Given the description of an element on the screen output the (x, y) to click on. 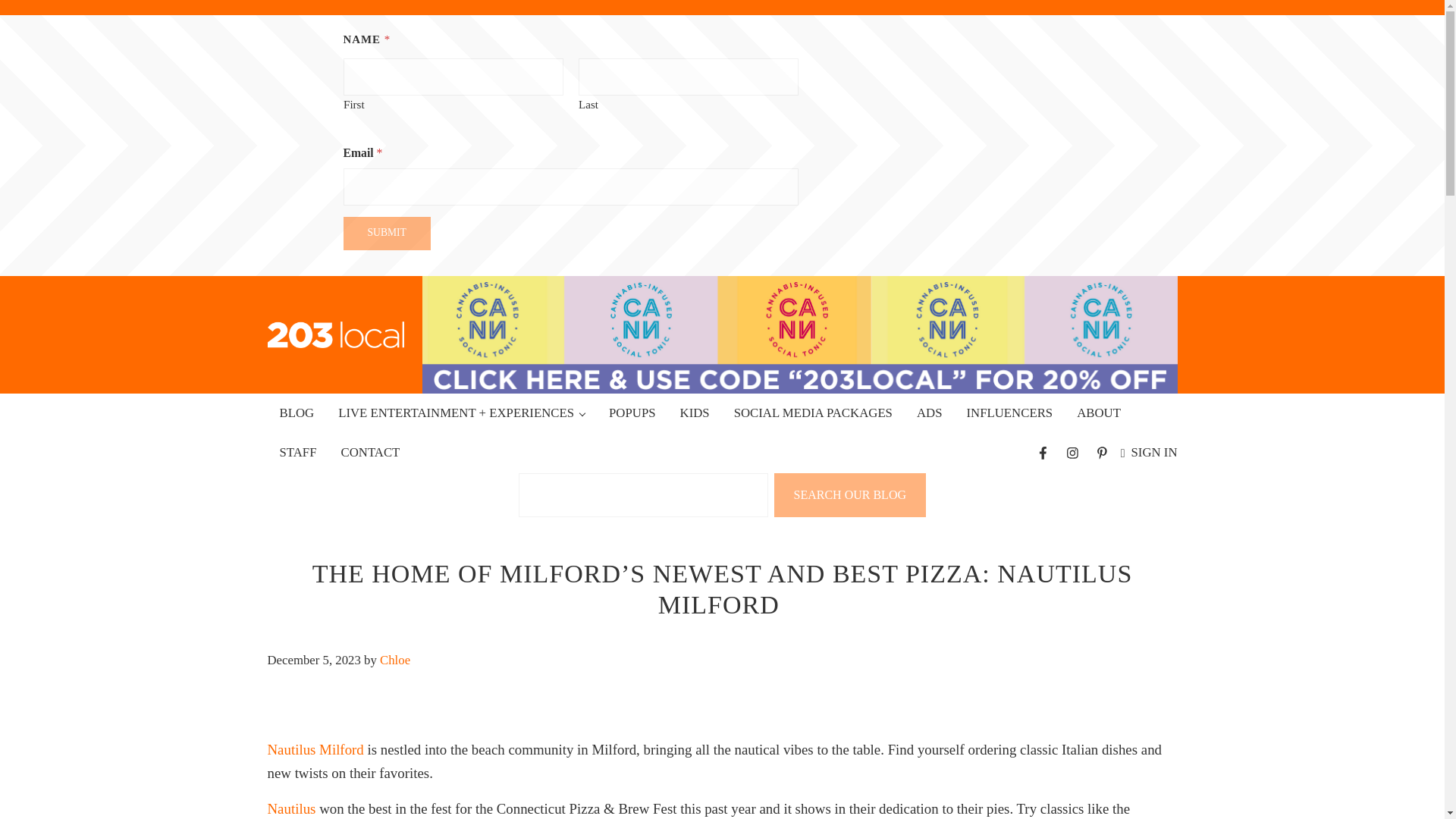
CONTACT (370, 452)
ABOUT (1098, 413)
KIDS (695, 413)
SUBMIT (385, 233)
STAFF (297, 452)
SOCIAL MEDIA PACKAGES (813, 413)
ADS (929, 413)
POPUPS (632, 413)
INFLUENCERS (1008, 413)
BLOG (296, 413)
